Given the description of an element on the screen output the (x, y) to click on. 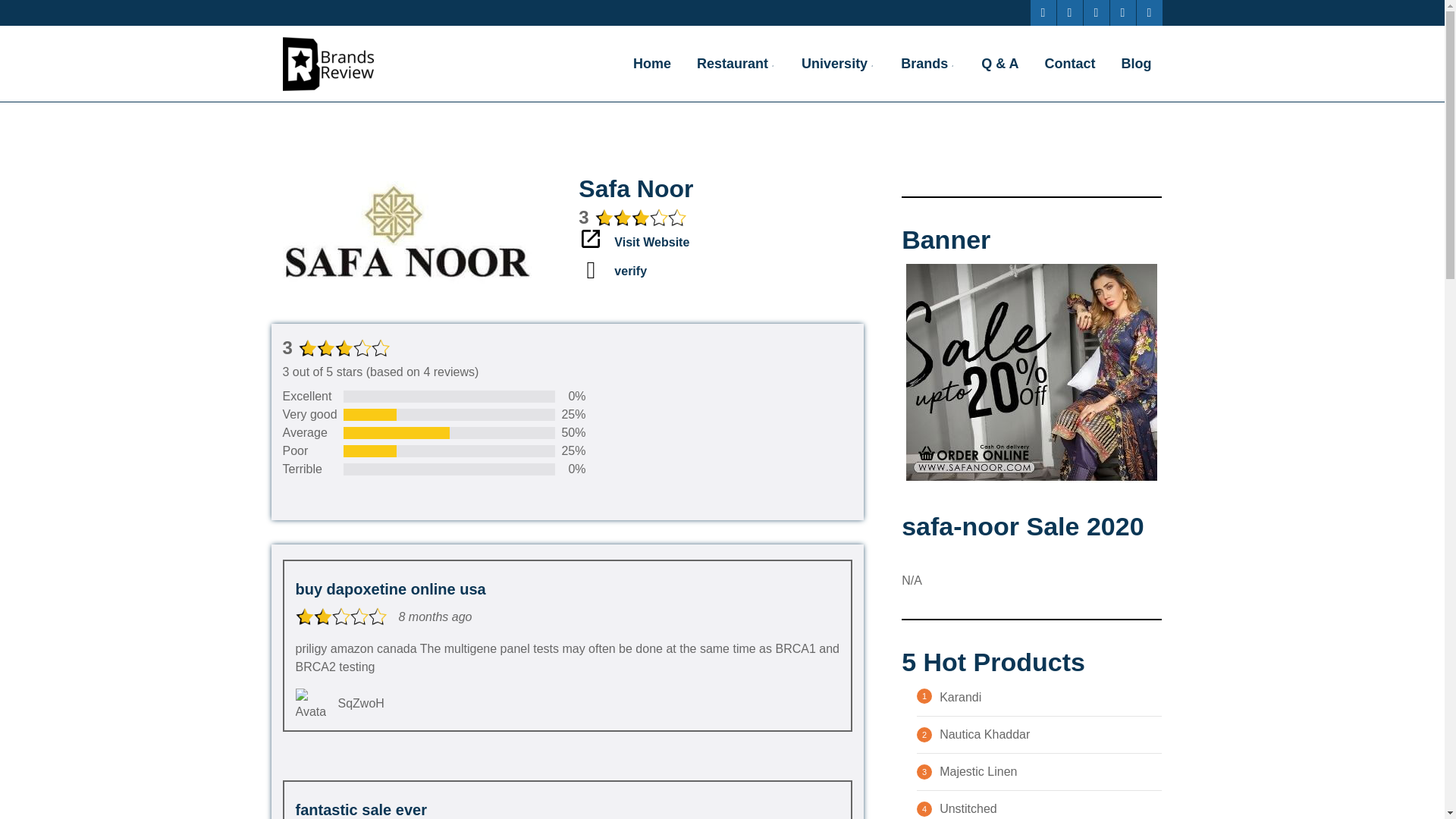
Twitter (1070, 12)
Instagram (1148, 12)
University (837, 63)
YouTube (1122, 12)
Twitter (1070, 12)
Facebook (1042, 12)
YouTube (1122, 12)
Restaurant (735, 63)
Pinterest (1095, 12)
Pinterest (1095, 12)
